Given the description of an element on the screen output the (x, y) to click on. 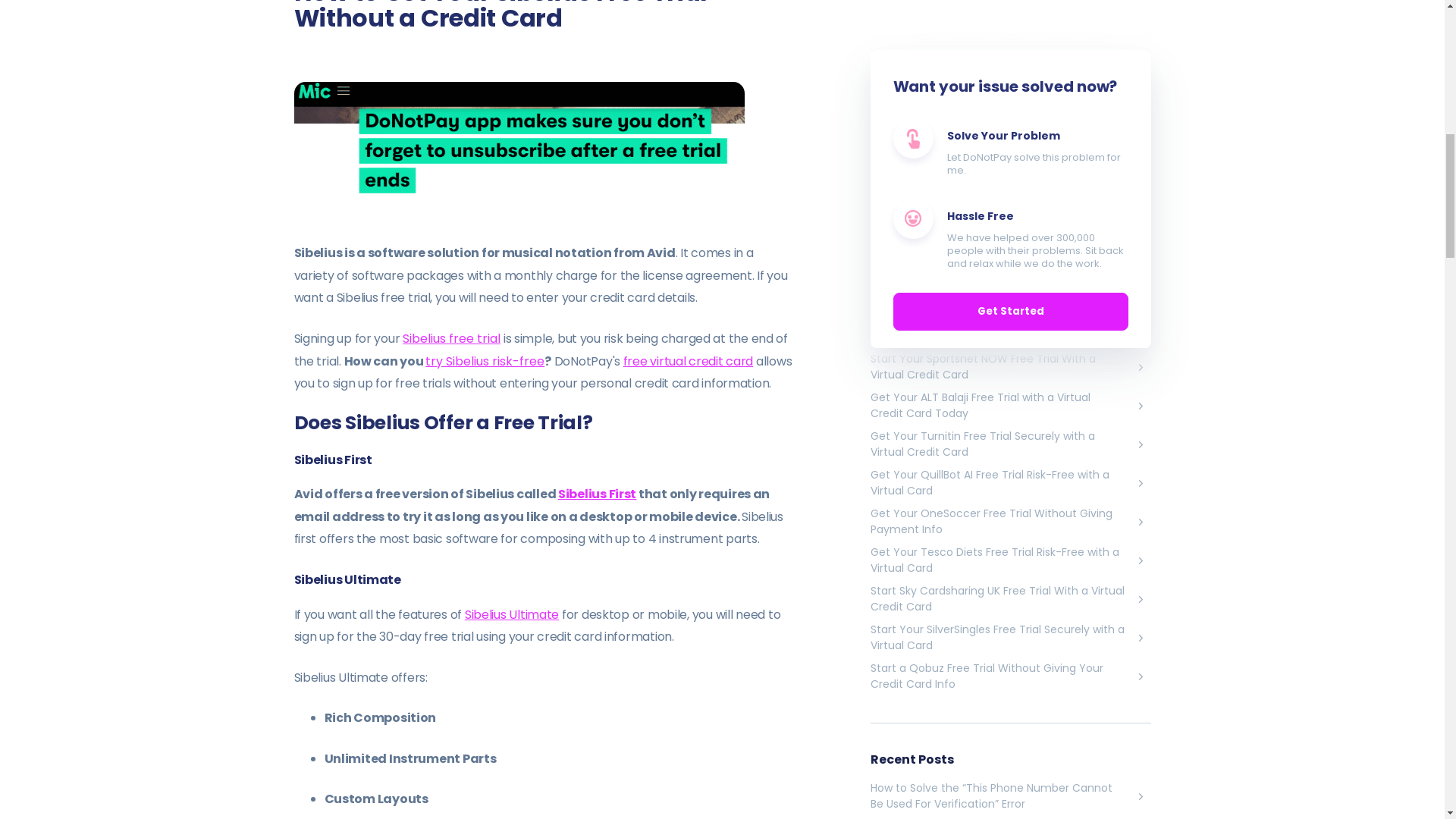
Sibelius First (596, 493)
free virtual credit card (687, 361)
try Sibelius risk-free (484, 361)
Sibelius Ultimate (511, 614)
Sibelius free trial (451, 338)
